Given the description of an element on the screen output the (x, y) to click on. 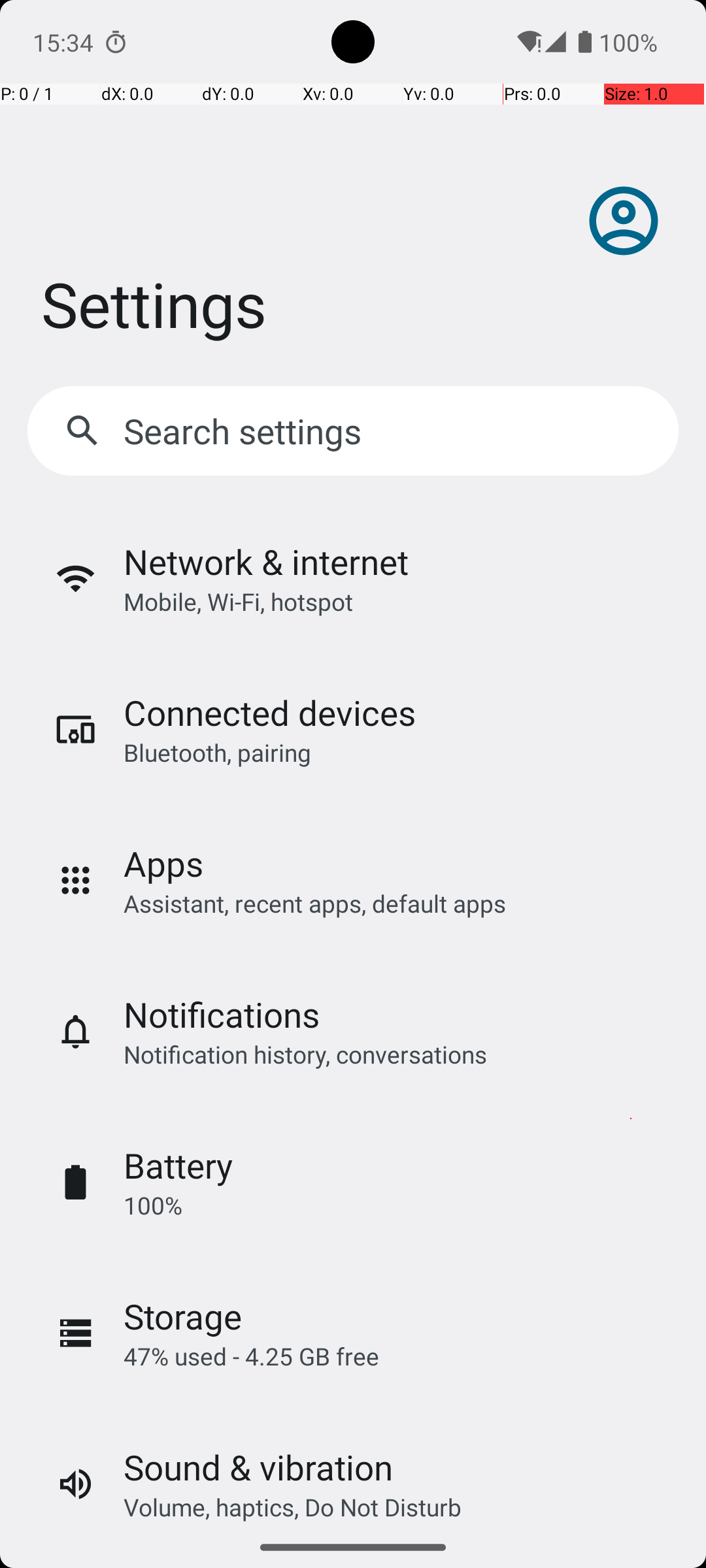
47% used - 4.25 GB free Element type: android.widget.TextView (251, 1355)
